Given the description of an element on the screen output the (x, y) to click on. 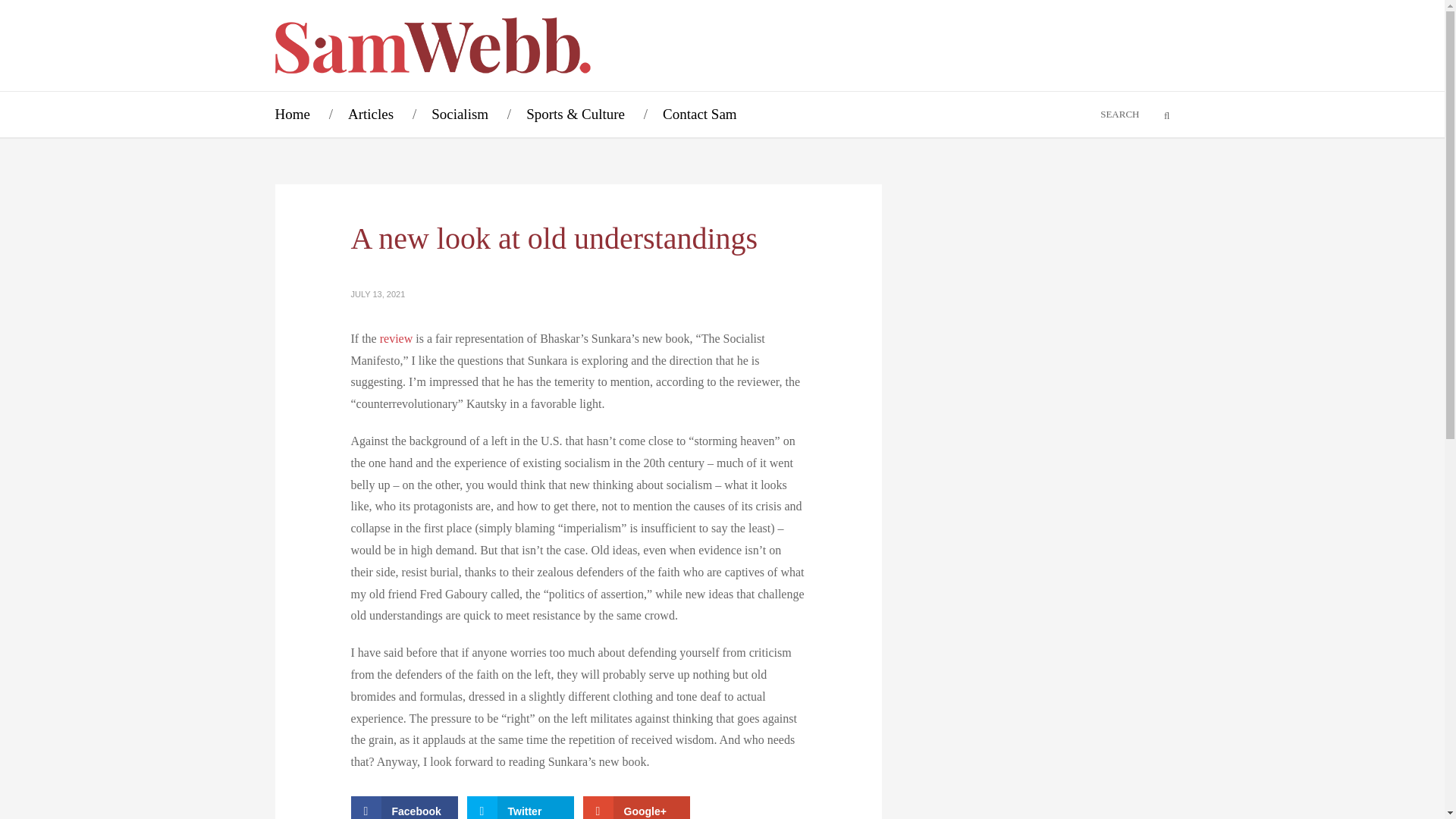
SEARCH (1096, 114)
Twitter (520, 807)
Socialism (458, 114)
Articles (370, 114)
Home (291, 114)
Facebook (403, 807)
Search (1158, 115)
review (396, 338)
Contact Sam (699, 114)
